Given the description of an element on the screen output the (x, y) to click on. 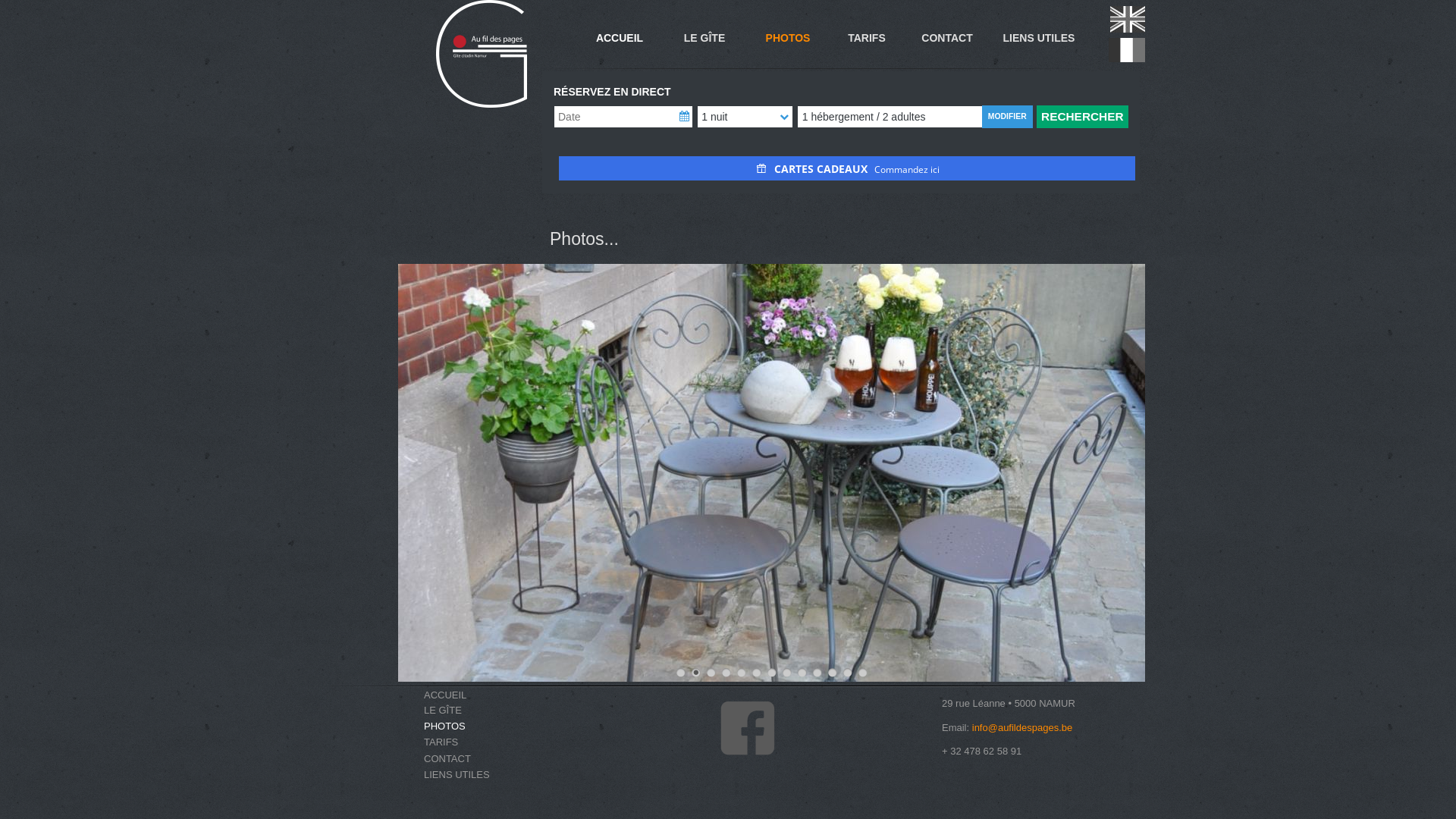
CONTACT Element type: text (472, 757)
CONTACT Element type: text (946, 37)
TARIFS Element type: text (866, 37)
info@aufildespages.be Element type: text (1022, 726)
RECHERCHER Element type: text (1082, 116)
ACCUEIL Element type: text (619, 37)
CONTACT Element type: text (446, 757)
  Element type: text (311, 775)
LIENS UTILES Element type: text (456, 774)
ACCUEIL Element type: text (472, 694)
ACCUEIL Element type: text (444, 693)
CARTES CADEAUX
Commandez ici Element type: text (846, 168)
PHOTOS Element type: text (787, 37)
LIENS UTILES Element type: text (472, 773)
PHOTOS Element type: text (787, 37)
LIENS UTILES Element type: text (1039, 37)
PHOTOS Element type: text (472, 725)
CONTACT Element type: text (946, 37)
PHOTOS Element type: text (444, 725)
TARIFS Element type: text (472, 741)
MODIFIER Element type: text (1007, 116)
ACCUEIL Element type: text (619, 37)
LIENS UTILES Element type: text (1038, 37)
TARIFS Element type: text (440, 740)
  Element type: text (311, 6)
TARIFS Element type: text (866, 37)
